Given the description of an element on the screen output the (x, y) to click on. 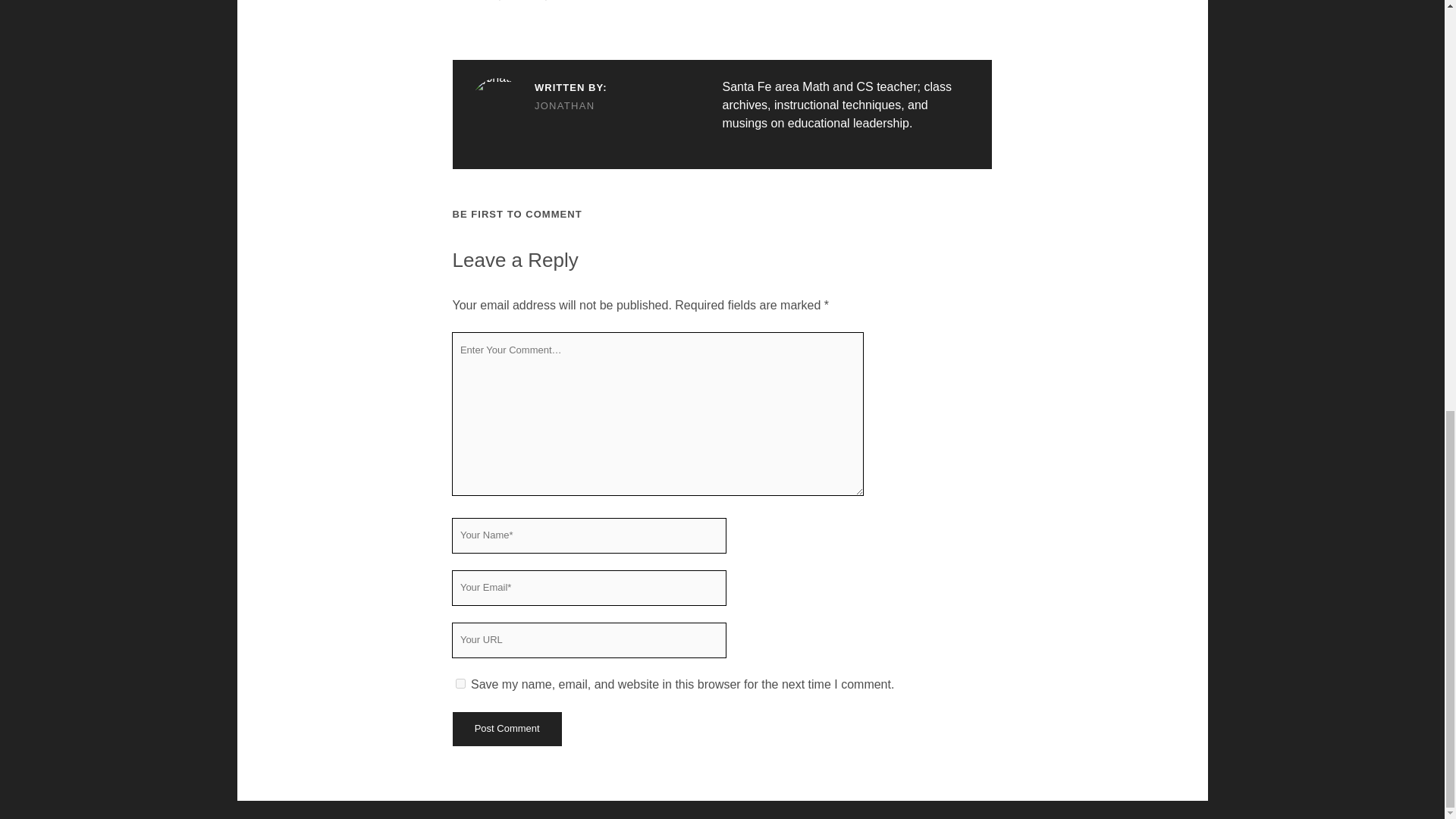
Posts by jonathan (538, 106)
JONATHAN (538, 106)
Post Comment (505, 728)
Post Comment (505, 728)
yes (459, 683)
